Given the description of an element on the screen output the (x, y) to click on. 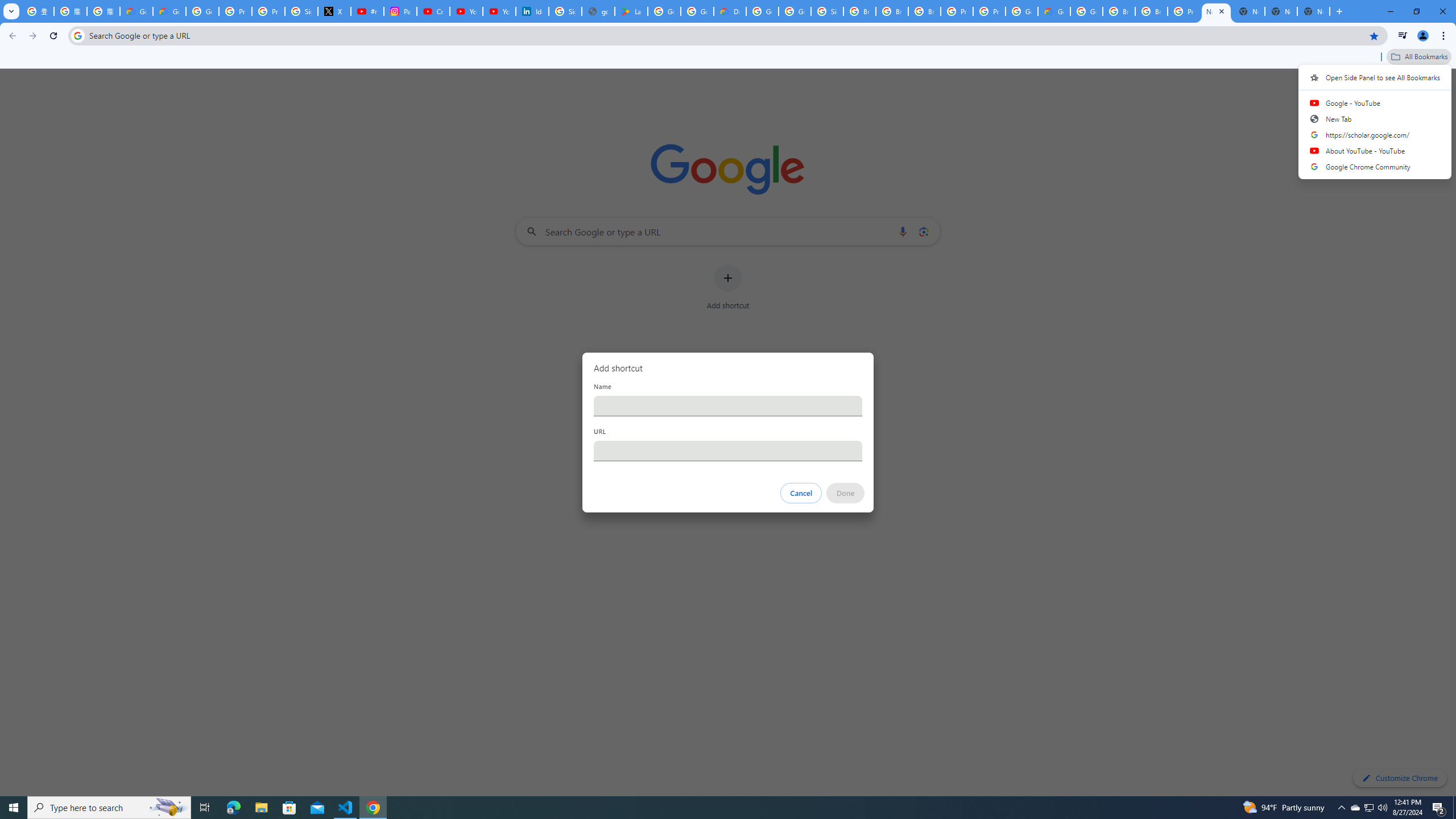
Browse Chrome as a guest - Computer - Google Chrome Help (859, 11)
YouTube Culture & Trends - YouTube Top 10, 2021 (499, 11)
Browse Chrome as a guest - Computer - Google Chrome Help (891, 11)
Google Workspace - Specific Terms (697, 11)
Browse Chrome as a guest - Computer - Google Chrome Help (924, 11)
Open Side Panel to see All Bookmarks (1374, 77)
Google Cloud Platform (1086, 11)
https://scholar.google.com/ (1374, 134)
Google Cloud Privacy Notice (169, 11)
Address and search bar (725, 35)
URL (727, 450)
Search tabs (10, 11)
Back (10, 35)
Cancel (801, 493)
Search icon (77, 35)
